Given the description of an element on the screen output the (x, y) to click on. 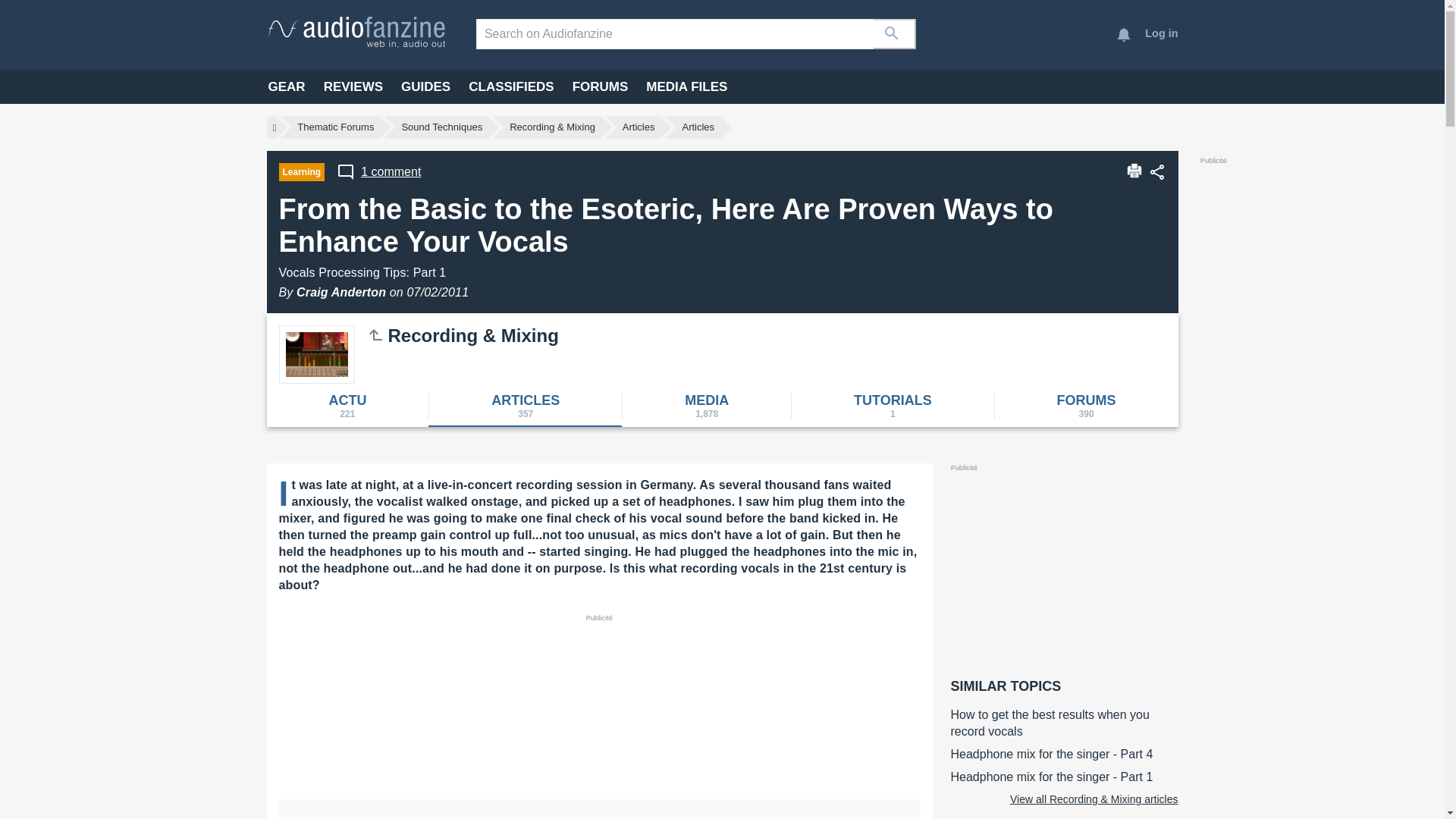
FORUMS (600, 86)
Thematic Forums (335, 127)
Articles (639, 127)
View Craig Anderton's member profile (341, 291)
Thematic Forums (335, 127)
CLASSIFIEDS (511, 86)
Notifications (1123, 34)
Sound Techniques (441, 127)
Sound Techniques (375, 334)
Search (894, 33)
Articles (697, 127)
Comment on Audiofanzine (378, 171)
